Given the description of an element on the screen output the (x, y) to click on. 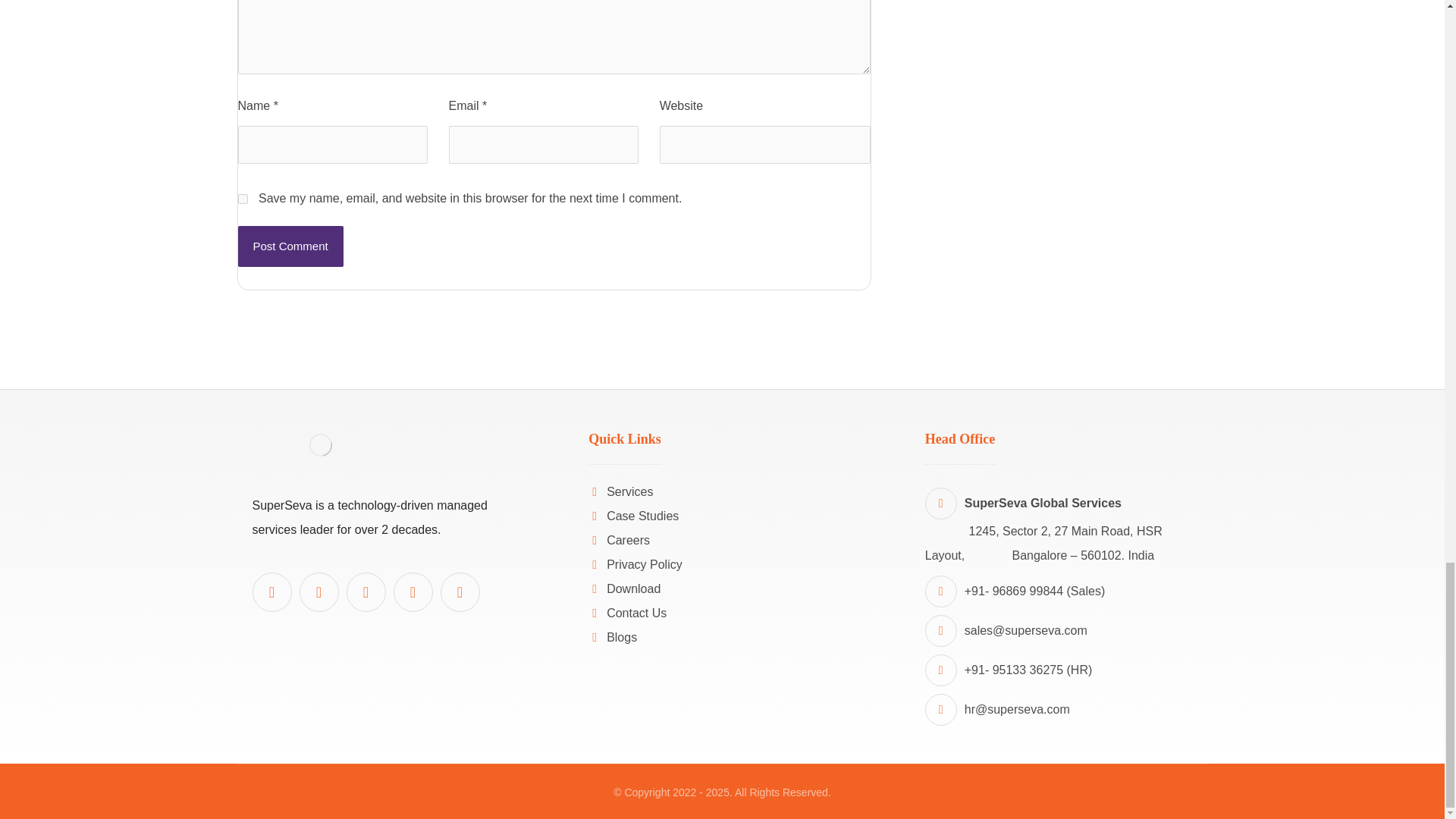
Facebook (365, 591)
Linkedin (271, 591)
Instagram (459, 591)
yes (242, 198)
Post Comment (290, 246)
Twitter (412, 591)
youtube (317, 591)
